Given the description of an element on the screen output the (x, y) to click on. 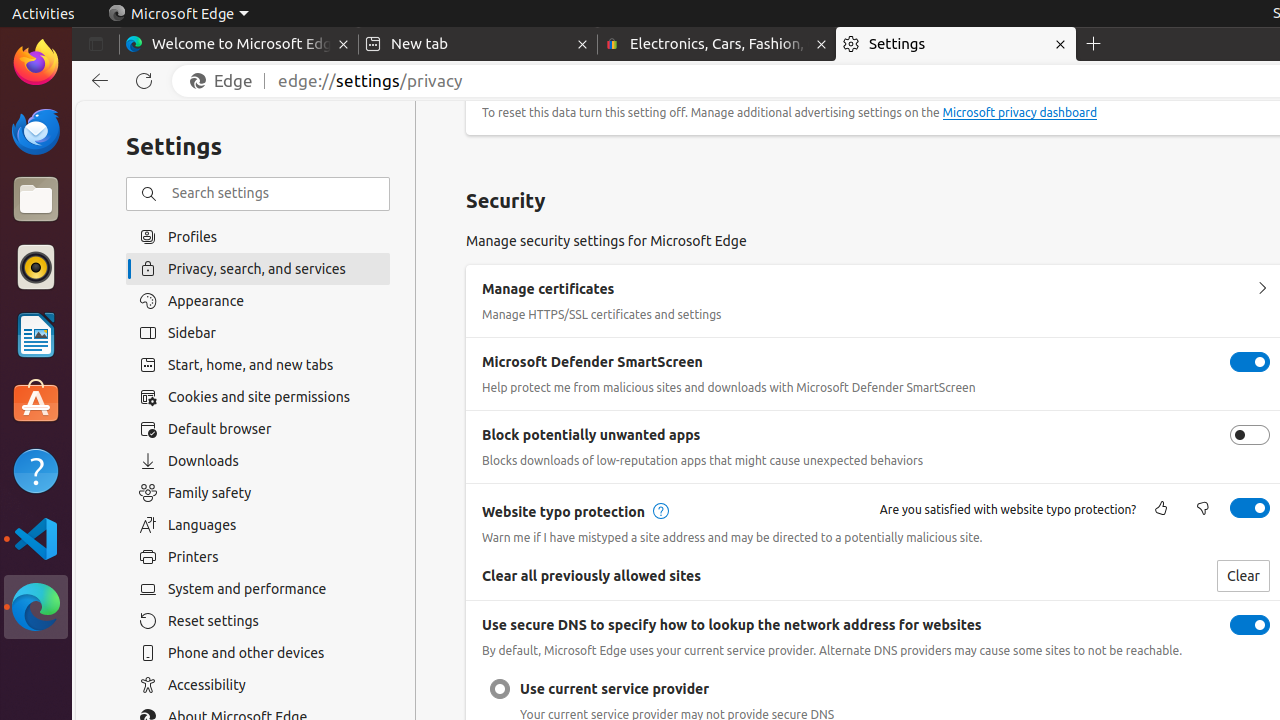
Settings Element type: page-tab (956, 44)
Back Element type: push-button (96, 81)
Appearance Element type: tree-item (258, 301)
Help Element type: push-button (36, 470)
New tab Element type: page-tab (478, 44)
